Given the description of an element on the screen output the (x, y) to click on. 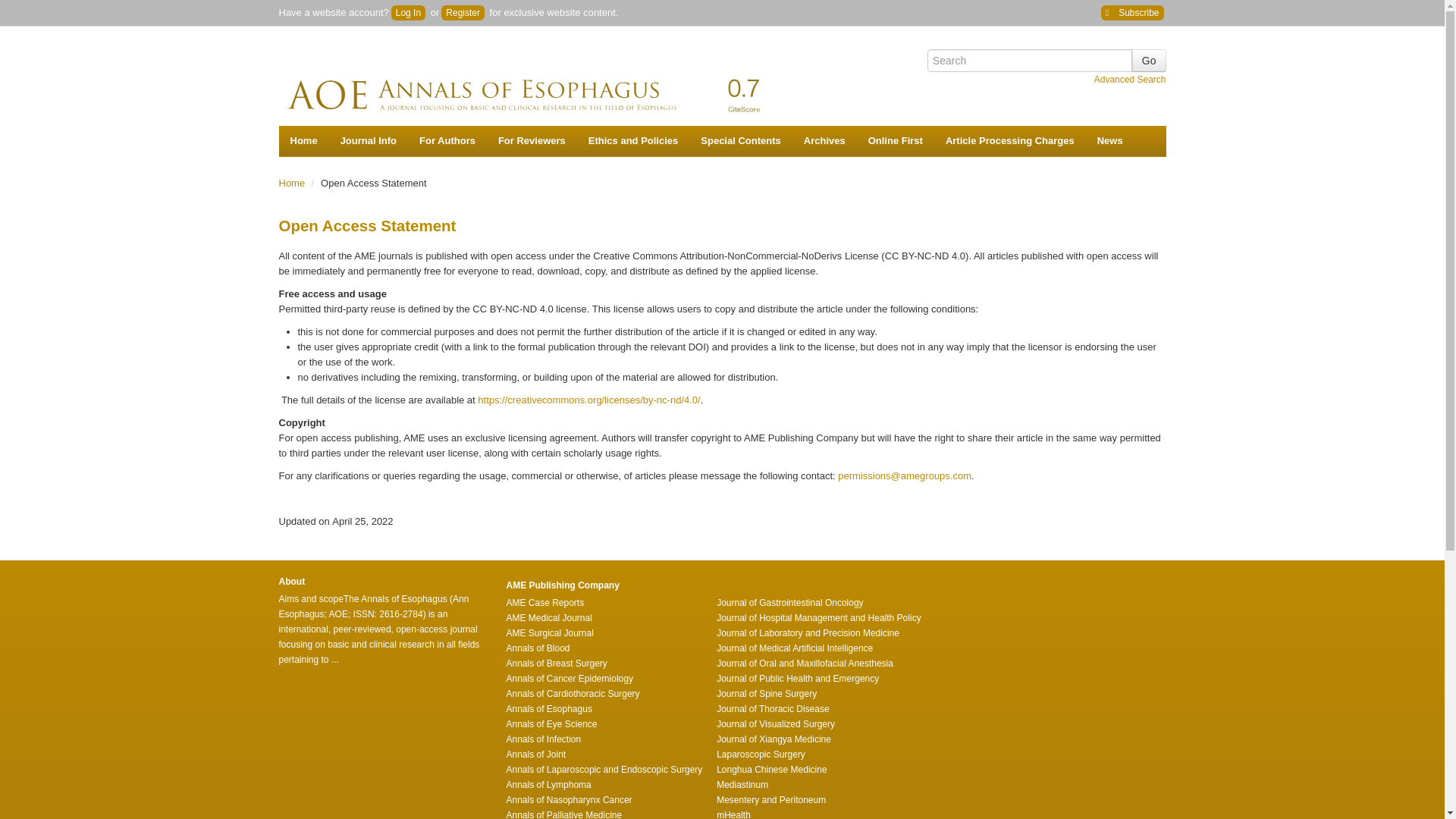
Home (304, 141)
For Reviewers (531, 141)
Log In (408, 12)
Go (1149, 60)
Go (1149, 60)
Advanced Search (1130, 79)
 Subscribe (1131, 12)
Register (462, 12)
Ethics and Policies (633, 141)
Annals of Esophagus (544, 83)
Subscribe (1131, 12)
Journal Info (368, 141)
For Authors (446, 141)
